Given the description of an element on the screen output the (x, y) to click on. 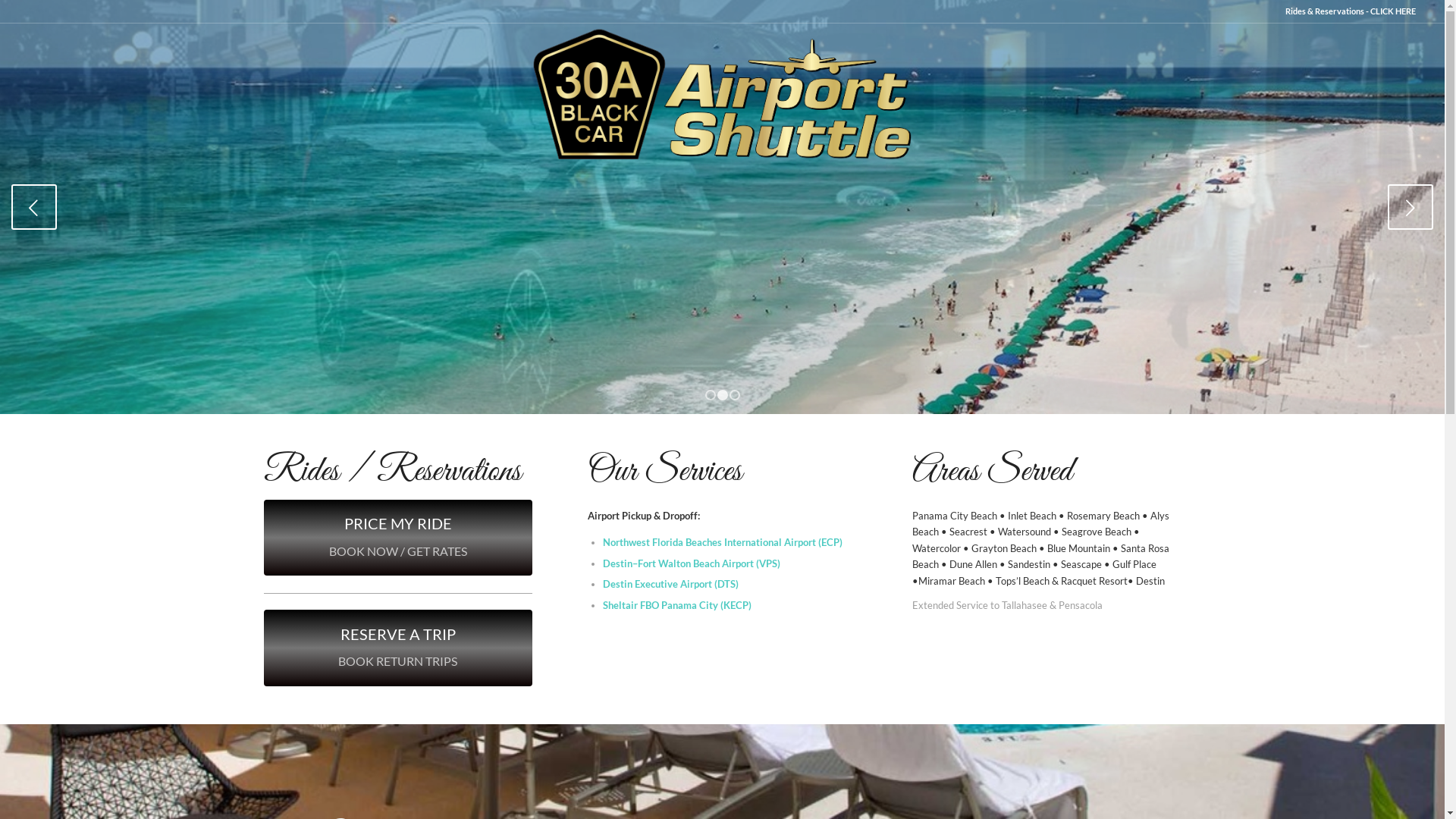
Previous Element type: text (33, 206)
2 Element type: text (722, 394)
1 Element type: text (710, 394)
CLICK HERE Element type: text (1392, 10)
AttheMall Element type: hover (722, 207)
Destin Executive Airport (DTS) Element type: text (670, 583)
3 Element type: text (734, 394)
Black Car Logo Element type: hover (721, 90)
Northwest Florida Beaches International Airport (ECP) Element type: text (722, 542)
Sheltair FBO Panama City (KECP) Element type: text (676, 605)
Next Element type: text (1410, 206)
PRICE MY RIDE
BOOK NOW / GET RATES Element type: text (398, 537)
RESERVE A TRIP
BOOK RETURN TRIPS Element type: text (398, 647)
